Given the description of an element on the screen output the (x, y) to click on. 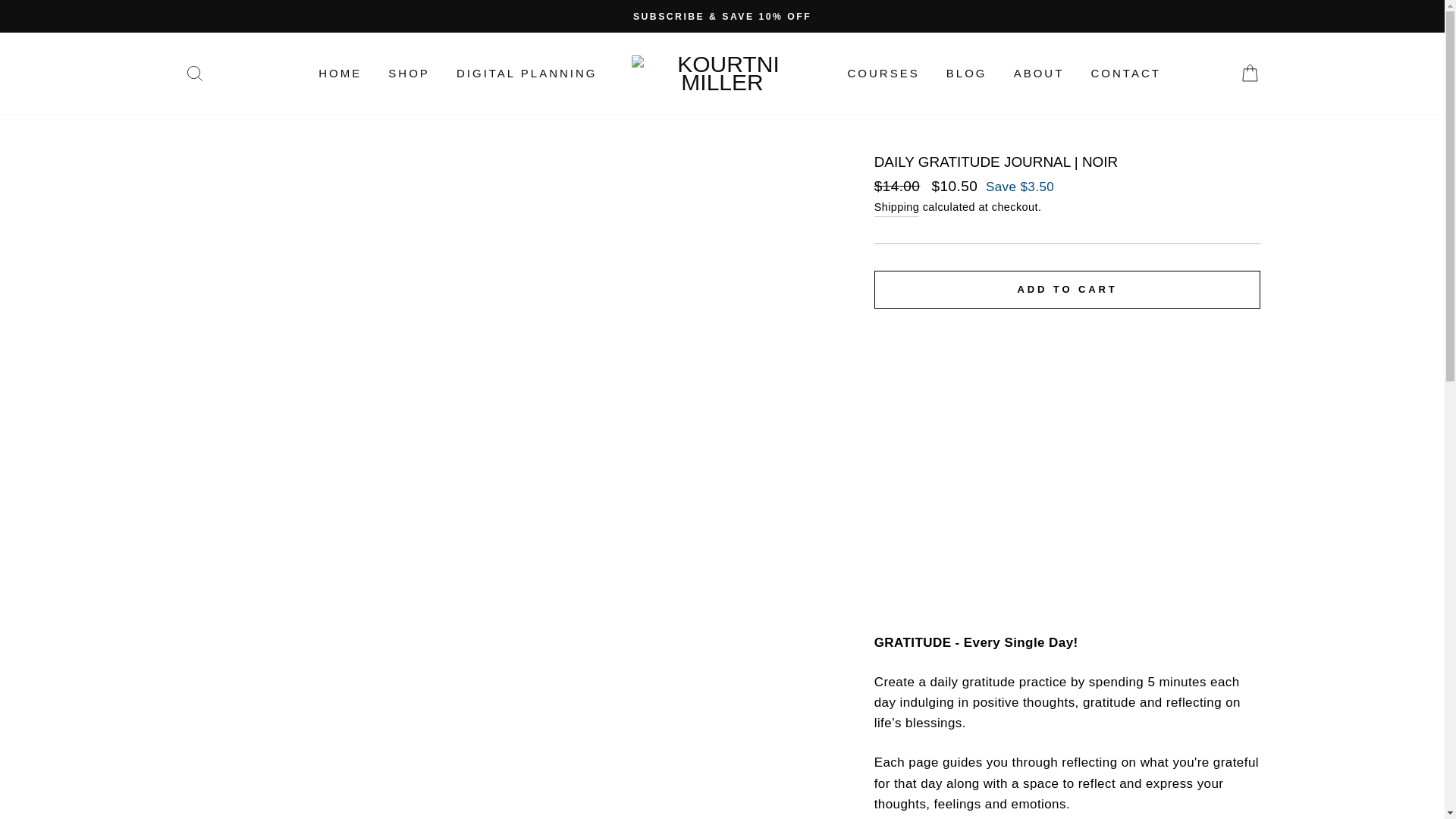
HOME (339, 73)
Shipping (897, 208)
DIGITAL PLANNING (526, 73)
SEARCH (194, 73)
ADD TO CART (1067, 289)
ABOUT (1039, 73)
COURSES (882, 73)
BLOG (966, 73)
SHOP (409, 73)
CART (1249, 73)
CONTACT (1126, 73)
